Given the description of an element on the screen output the (x, y) to click on. 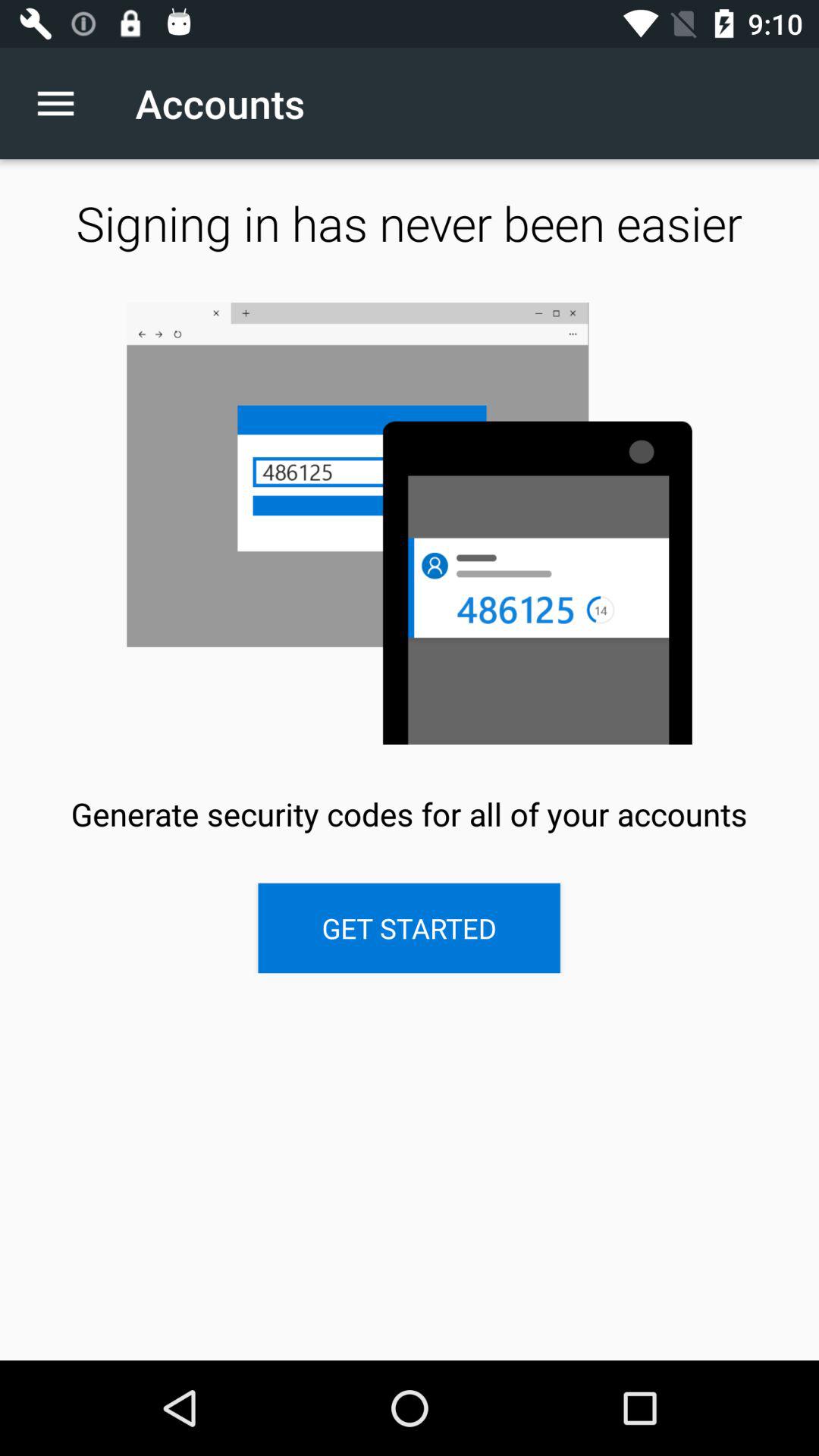
open icon below the generate security codes app (409, 928)
